Given the description of an element on the screen output the (x, y) to click on. 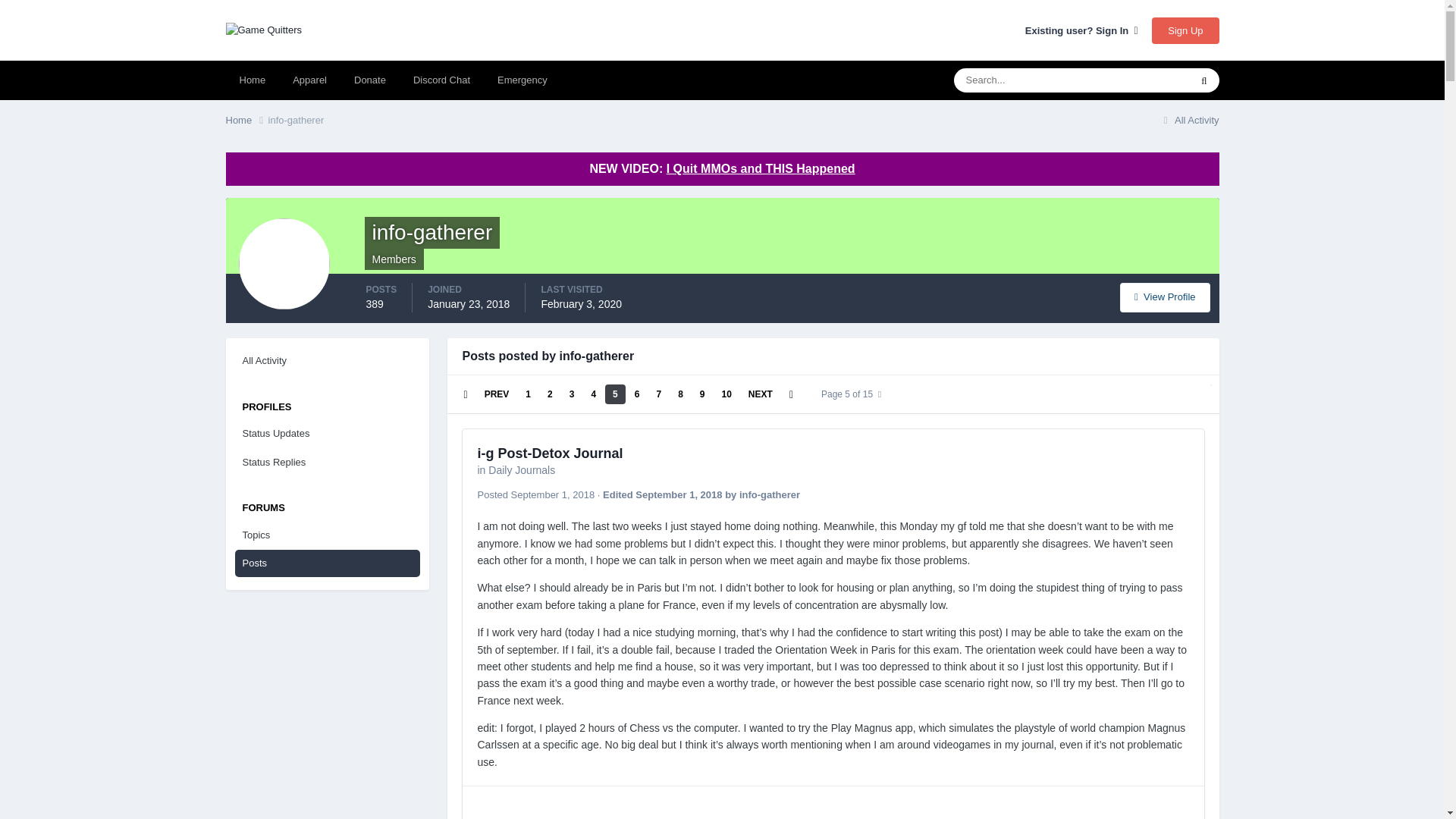
NEW VIDEO: I Quit MMOs and THIS Happened (721, 168)
Existing user? Sign In   (1081, 30)
Next page (760, 394)
Discord Chat (440, 79)
All Activity (327, 360)
Topics (327, 534)
View the topic i-g Post-Detox Journal (550, 453)
3 (572, 394)
All Activity (1188, 120)
Status Replies (327, 461)
